Given the description of an element on the screen output the (x, y) to click on. 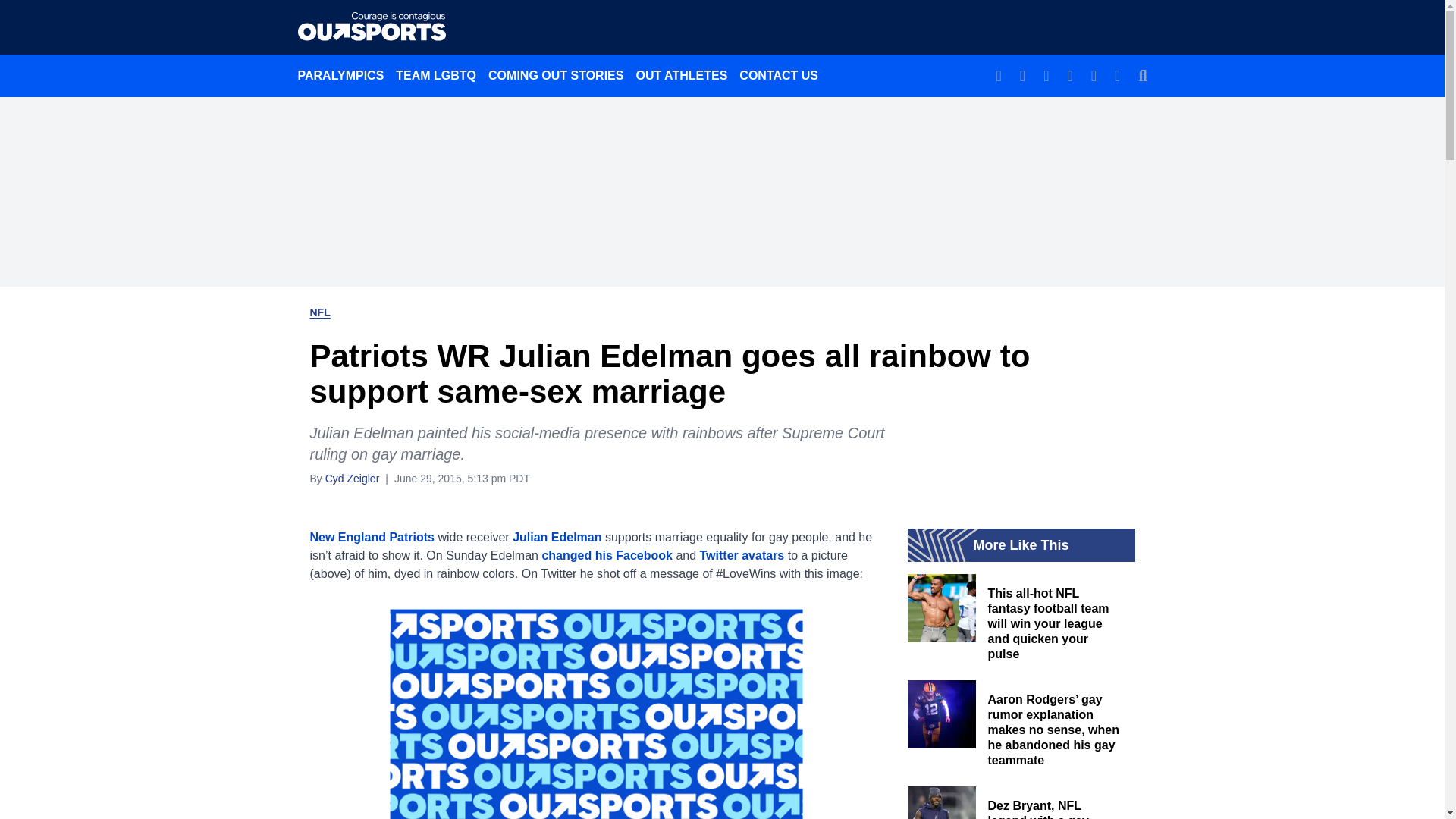
COMING OUT STORIES (554, 75)
Julian Edelman (556, 536)
CONTACT US (778, 75)
TEAM LGBTQ (435, 75)
New England Patriots (370, 536)
Twitter avatars (742, 554)
PARALYMPICS (340, 75)
Cyd Zeigler (352, 477)
